Given the description of an element on the screen output the (x, y) to click on. 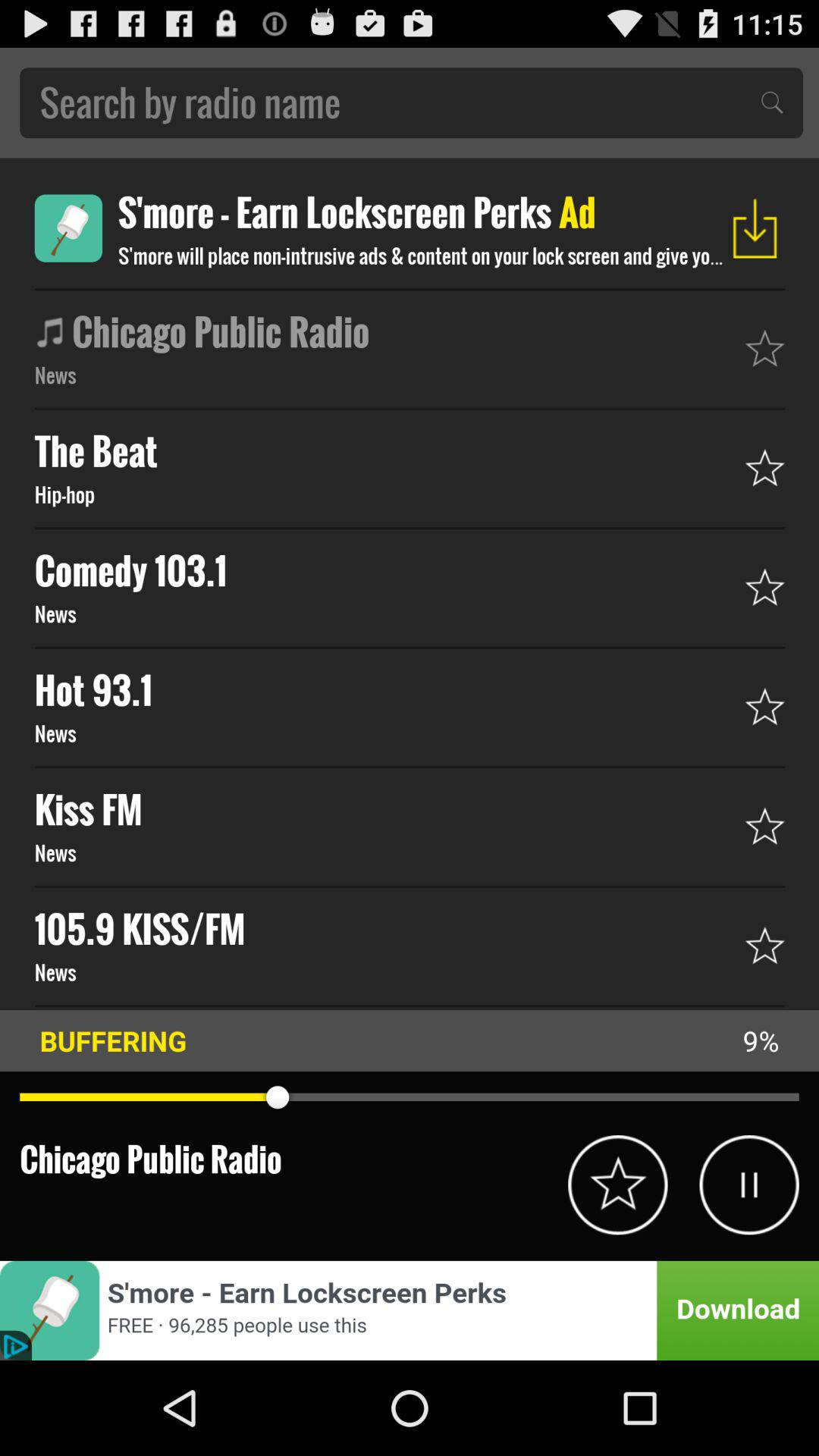
advertisement download (409, 1310)
